Given the description of an element on the screen output the (x, y) to click on. 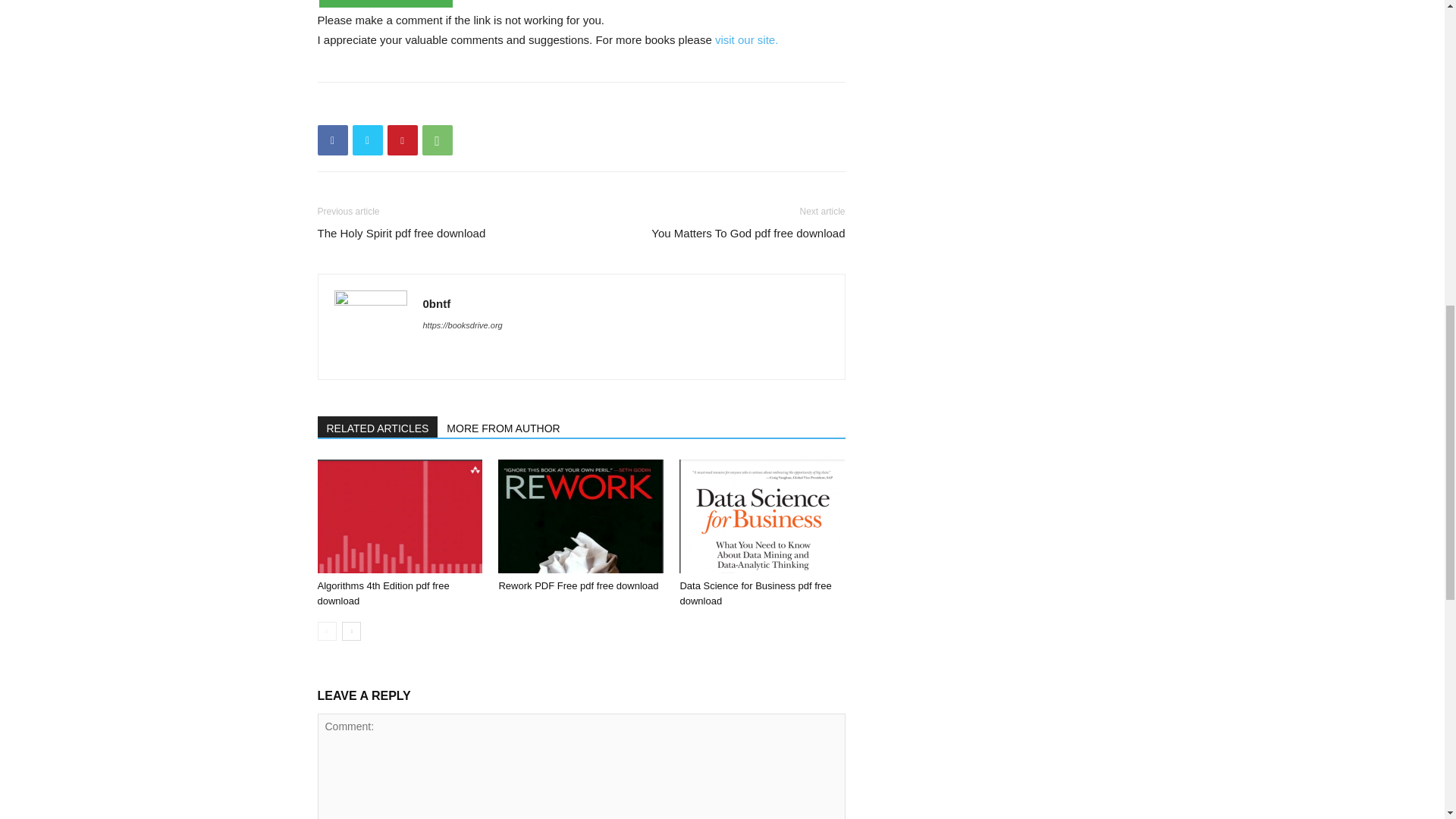
Facebook (332, 140)
Twitter (366, 140)
Pinterest (401, 140)
bottomFacebookLike (430, 106)
WhatsApp (436, 140)
